Given the description of an element on the screen output the (x, y) to click on. 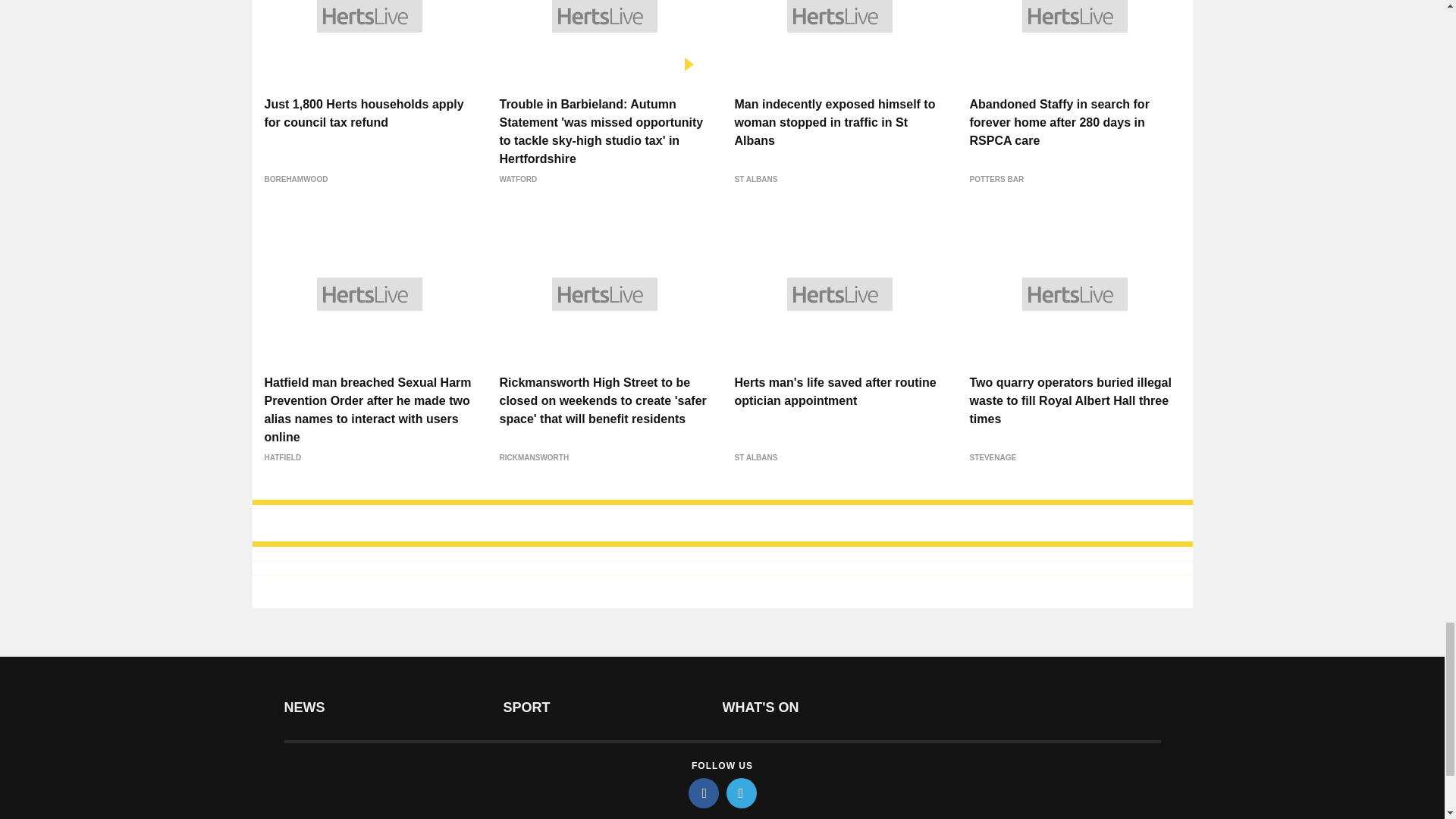
twitter (741, 793)
facebook (703, 793)
